Given the description of an element on the screen output the (x, y) to click on. 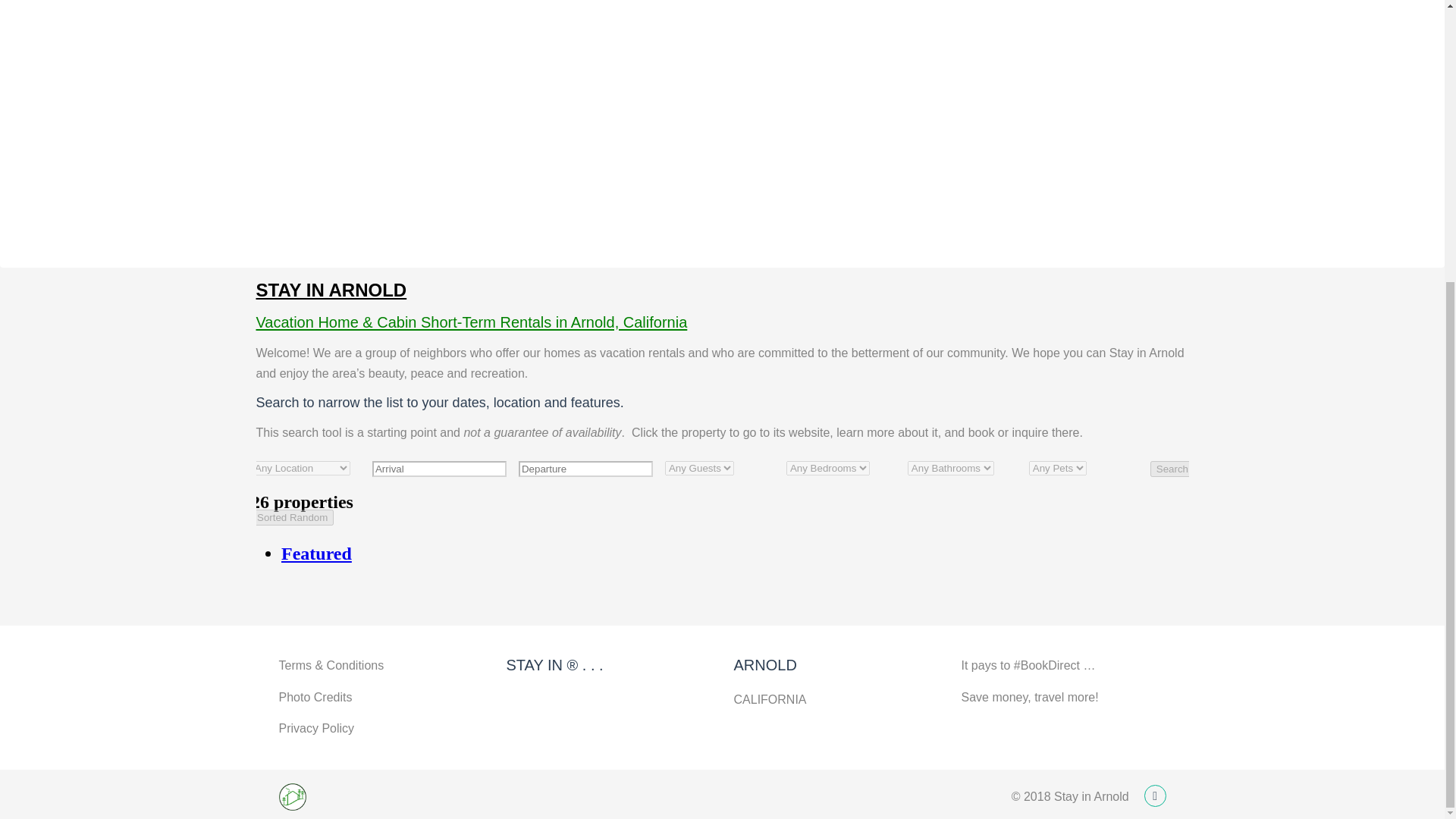
Photo Credits (315, 697)
Privacy Policy (317, 727)
